Given the description of an element on the screen output the (x, y) to click on. 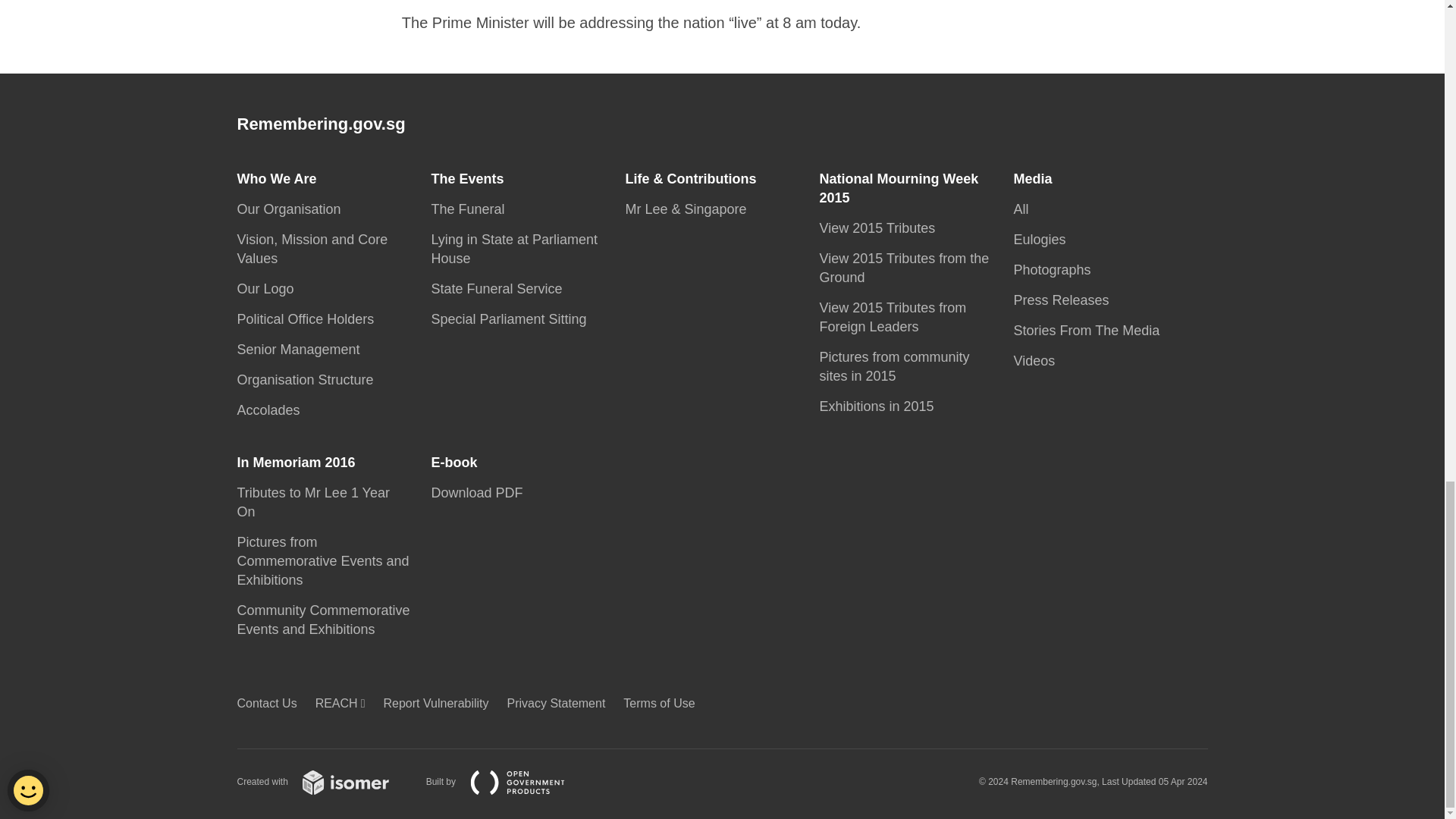
Link to reach.gov.sg (344, 703)
